Given the description of an element on the screen output the (x, y) to click on. 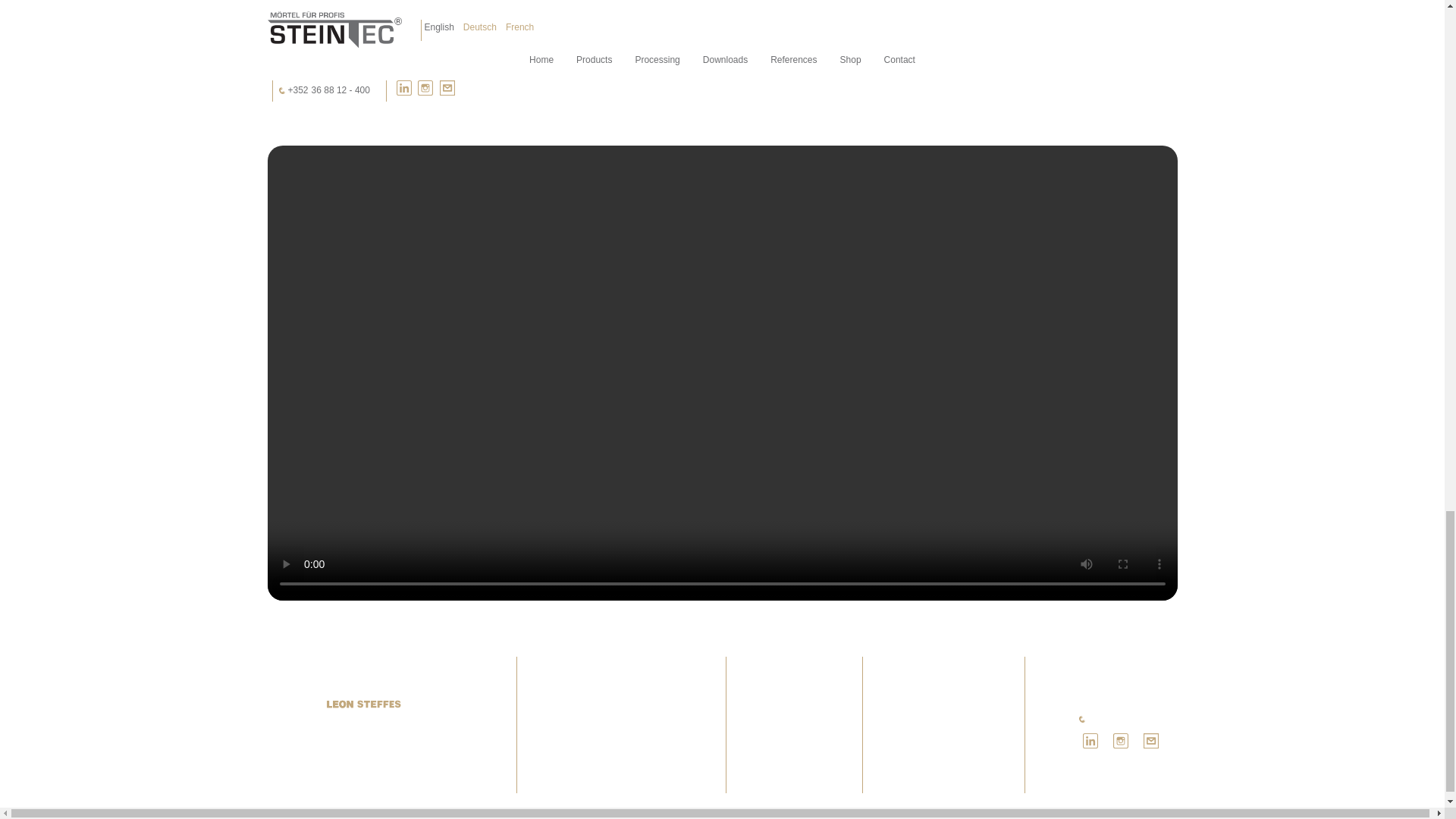
Drain Concrete DBT 08 (601, 672)
Products (571, 661)
Bedding Mortar BM 04 (599, 683)
Bedding Mortar BM 04 S (603, 694)
Home (466, 661)
